Given the description of an element on the screen output the (x, y) to click on. 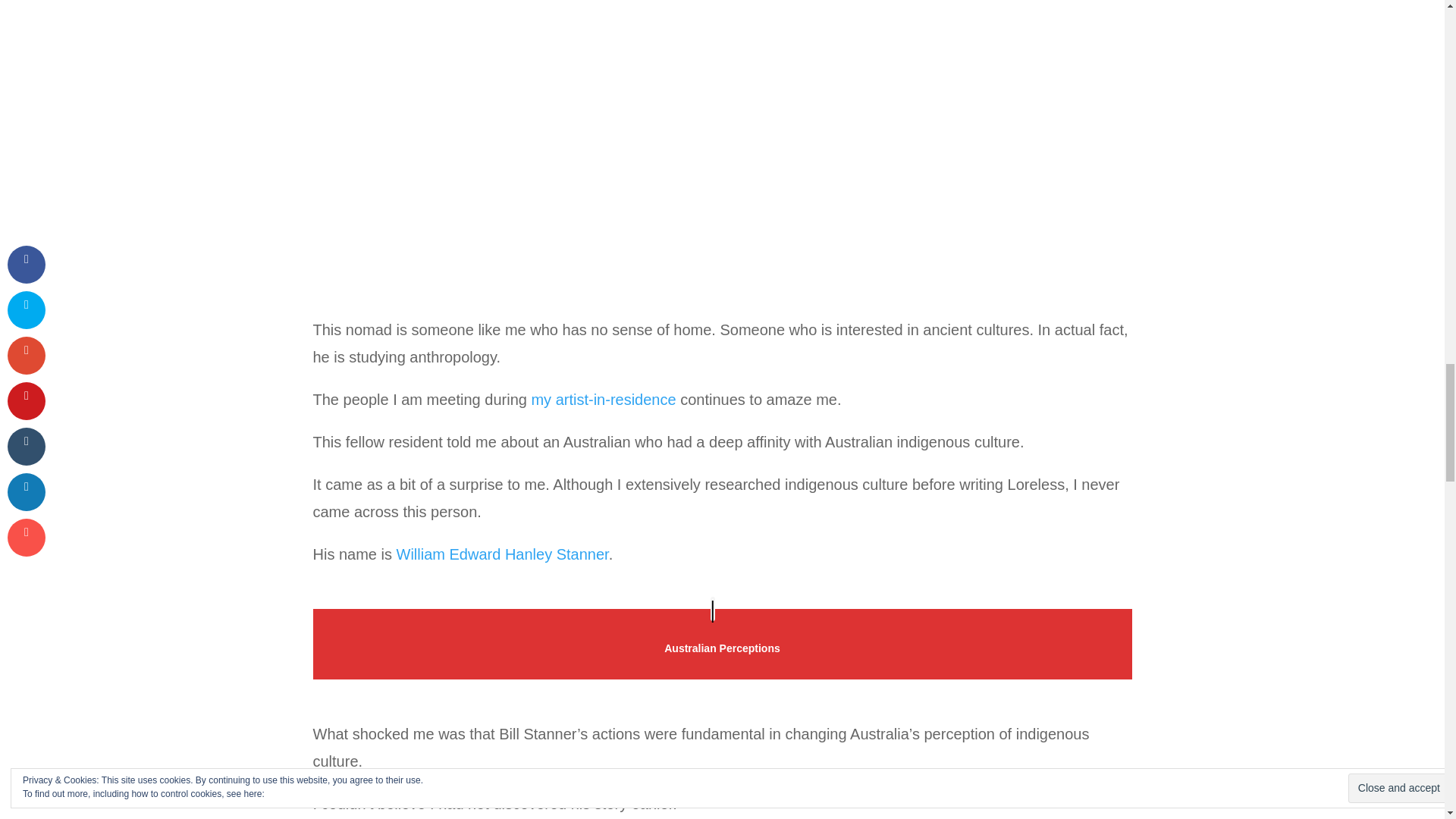
William Edward Hanley Stanner (502, 554)
my artist-in-residence (603, 399)
